Given the description of an element on the screen output the (x, y) to click on. 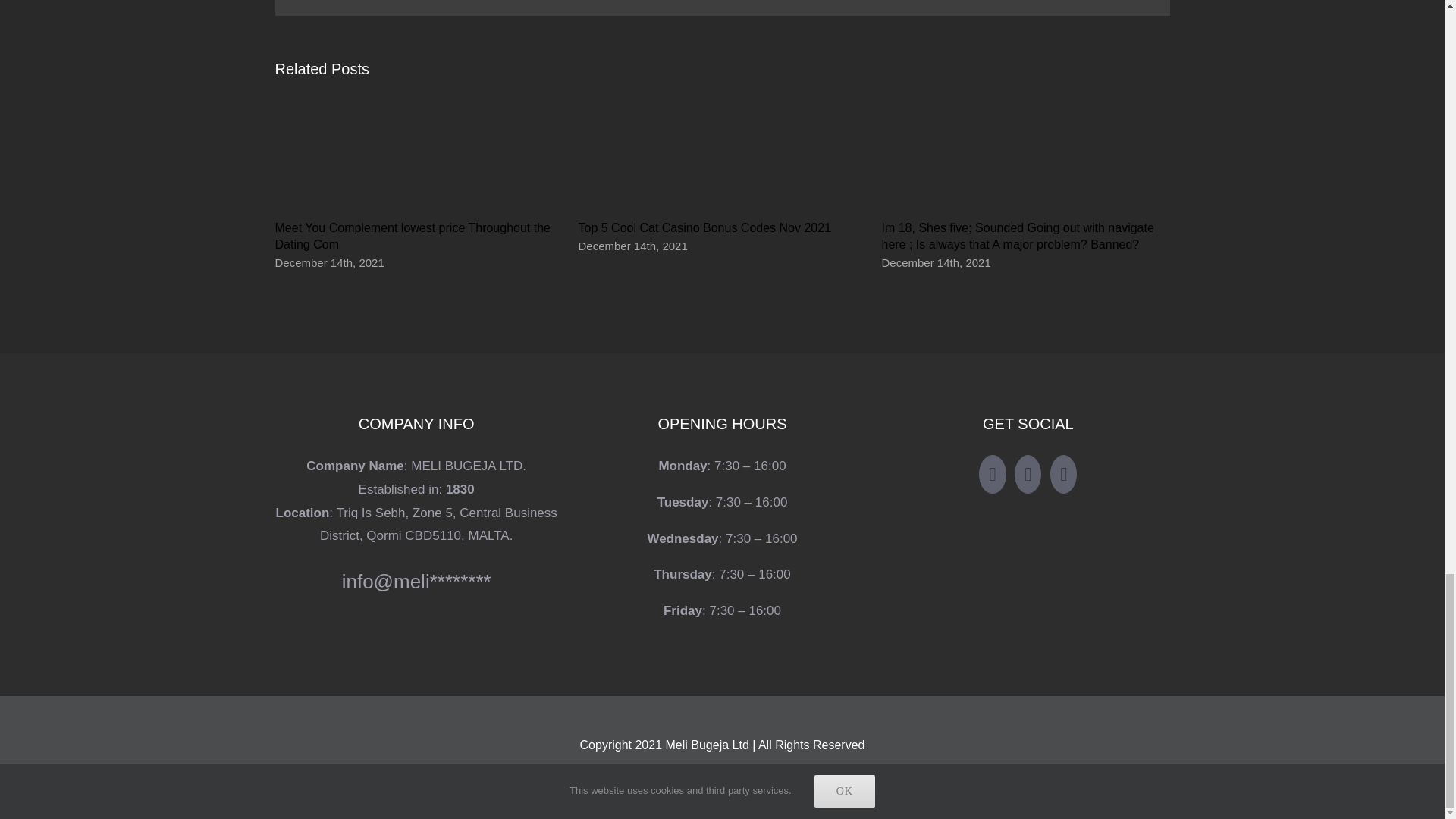
Meet You Complement lowest price Throughout the Dating Com (412, 235)
Top 5 Cool Cat Casino Bonus Codes Nov 2021 (704, 227)
